Given the description of an element on the screen output the (x, y) to click on. 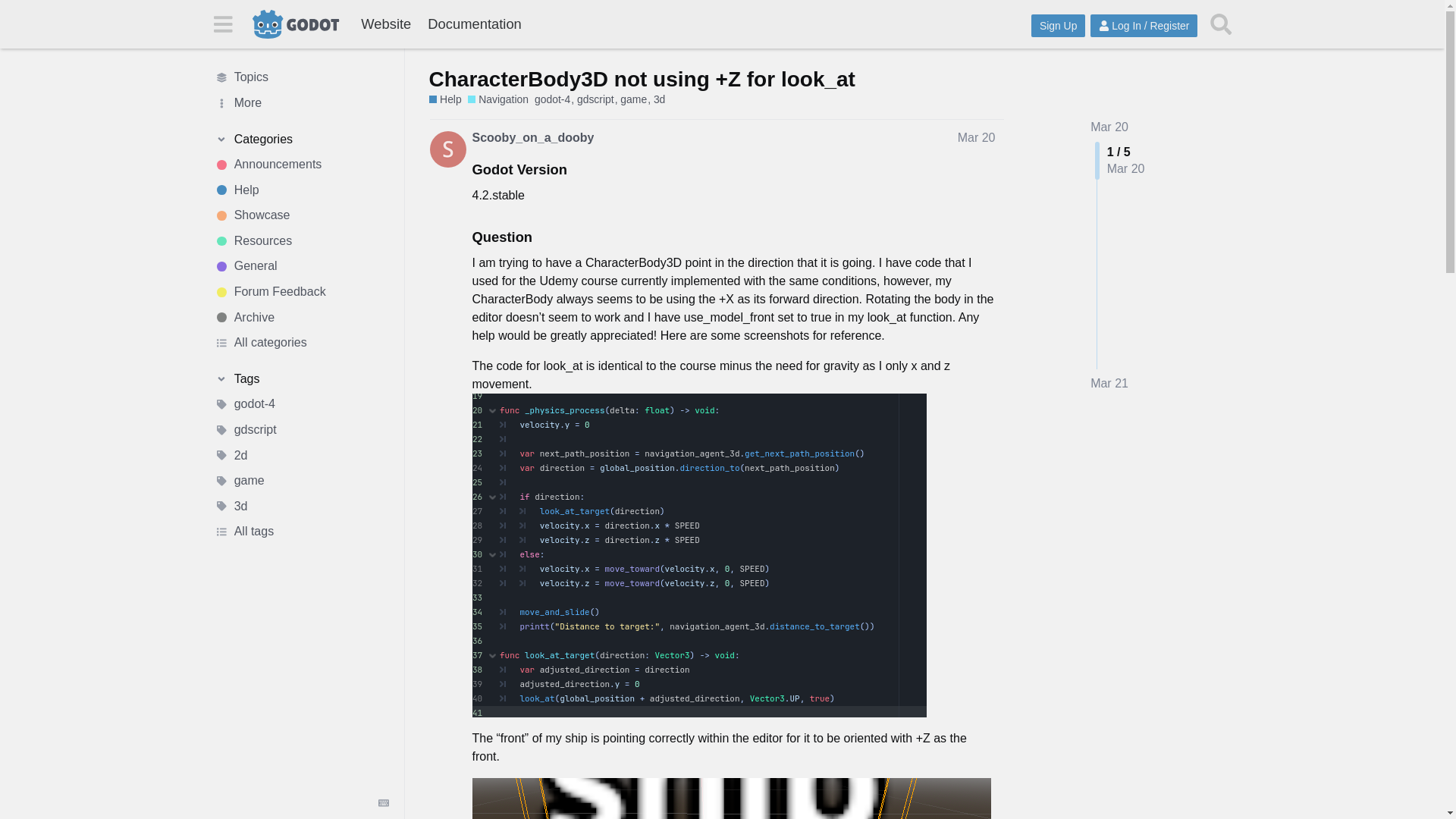
Archive (301, 317)
More (301, 103)
All topics (301, 77)
godot-4 (301, 404)
Resources (301, 240)
Website (385, 23)
Mar 21 (1109, 383)
gdscript (301, 429)
All categories (301, 343)
